Given the description of an element on the screen output the (x, y) to click on. 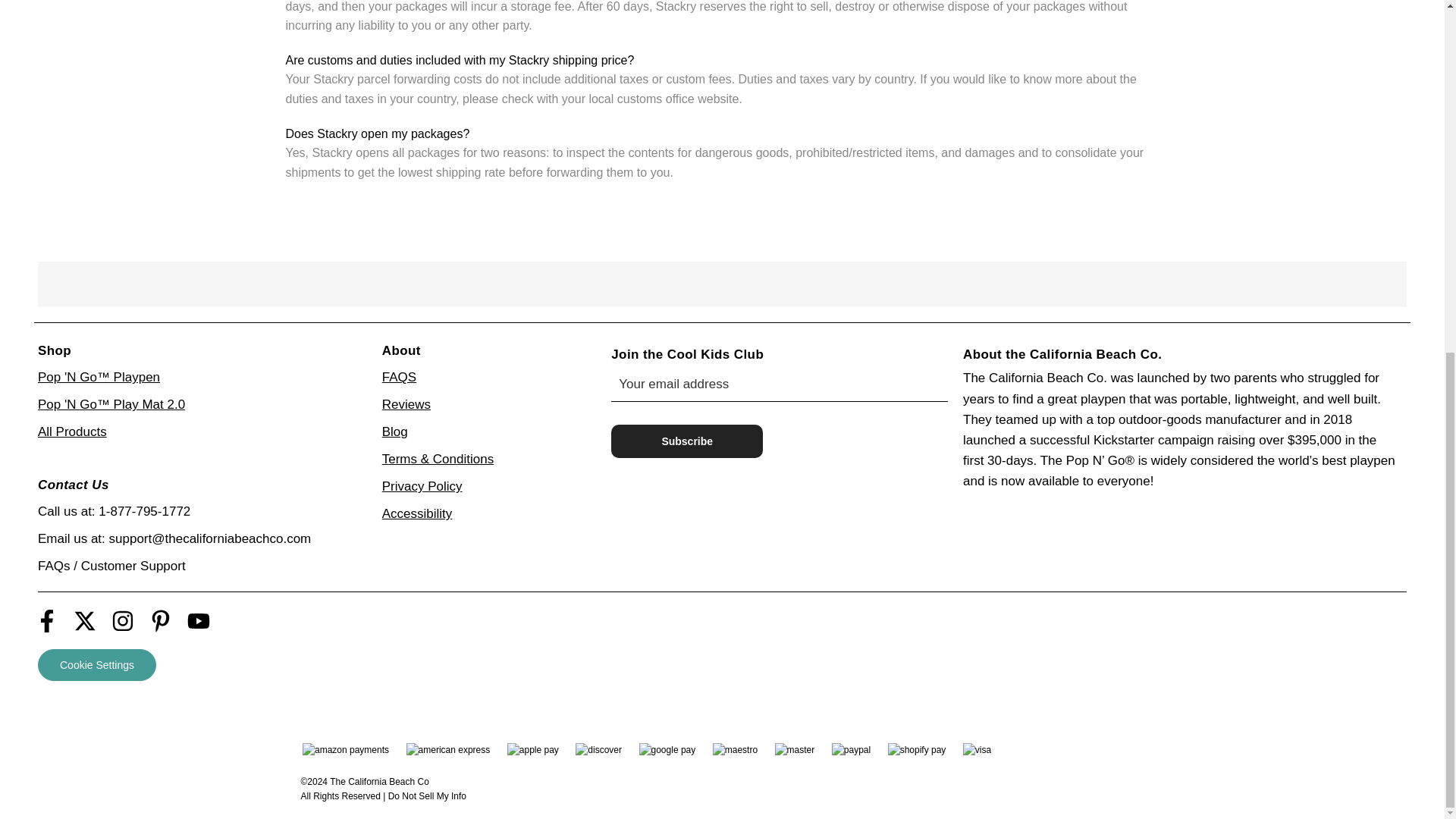
Accessibility (416, 513)
All Products (71, 431)
Follow on Facebook (49, 620)
Follow on YouTube (201, 620)
Blog (394, 431)
Privacy Policy (422, 486)
Follow on Pinterest (164, 620)
Follow on Instagram (126, 620)
Follow on Twitter (88, 620)
Reviews (405, 404)
Subscribe (686, 441)
FAQS (398, 377)
Skip to Menu (10, 810)
1-877-795-1772 (144, 511)
Do Not Sell My Info (426, 796)
